Given the description of an element on the screen output the (x, y) to click on. 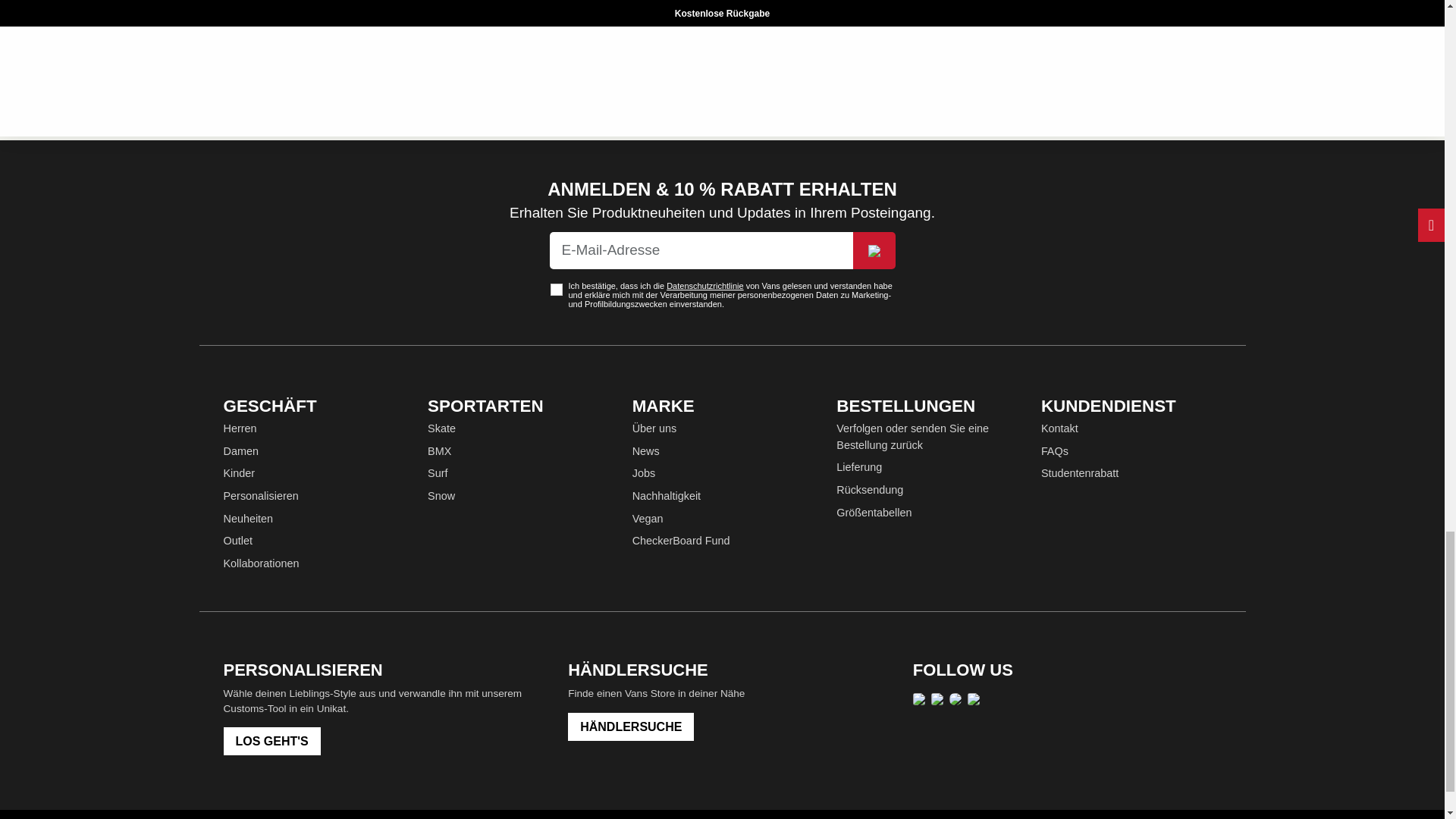
on (556, 289)
